Given the description of an element on the screen output the (x, y) to click on. 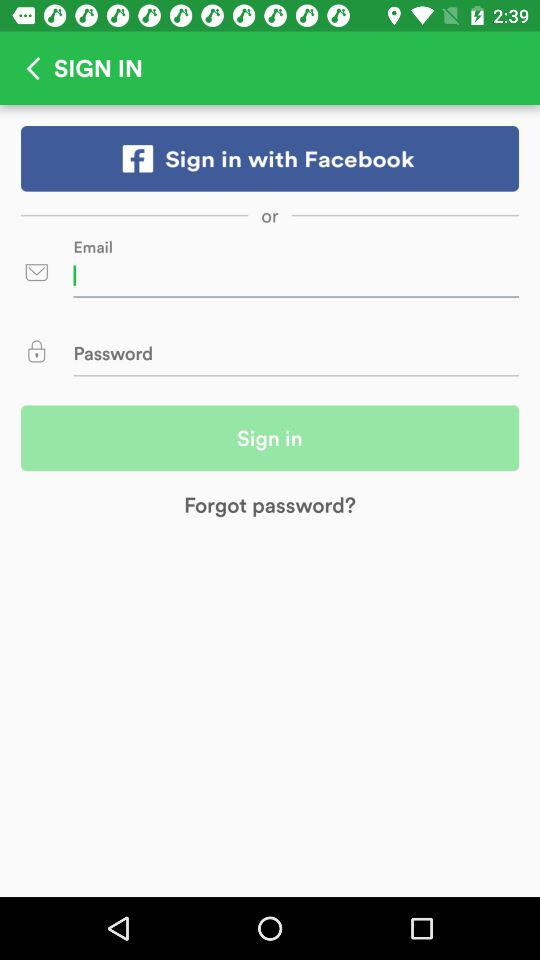
enter email id (296, 275)
